Given the description of an element on the screen output the (x, y) to click on. 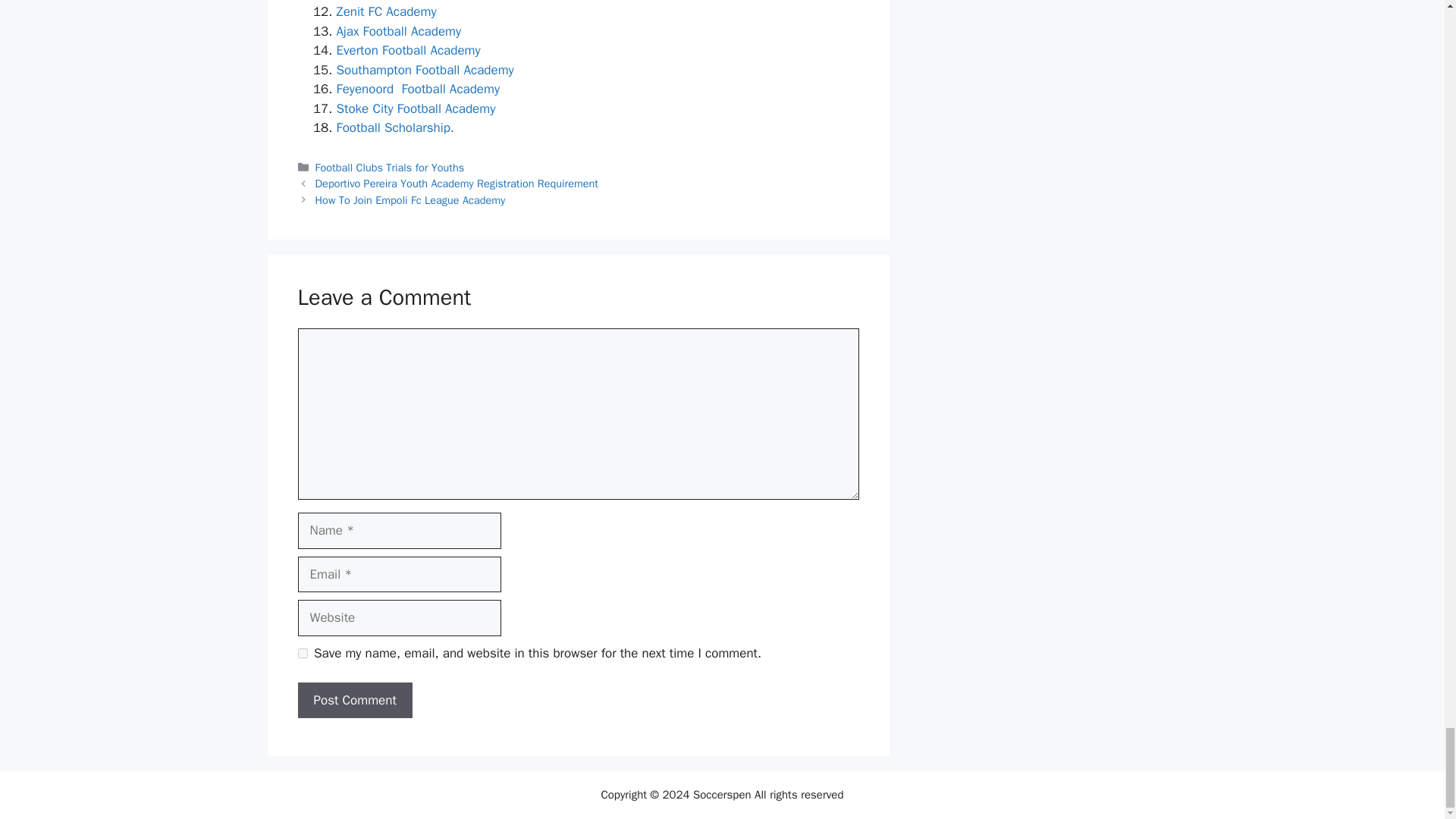
yes (302, 653)
Post Comment (354, 700)
